Given the description of an element on the screen output the (x, y) to click on. 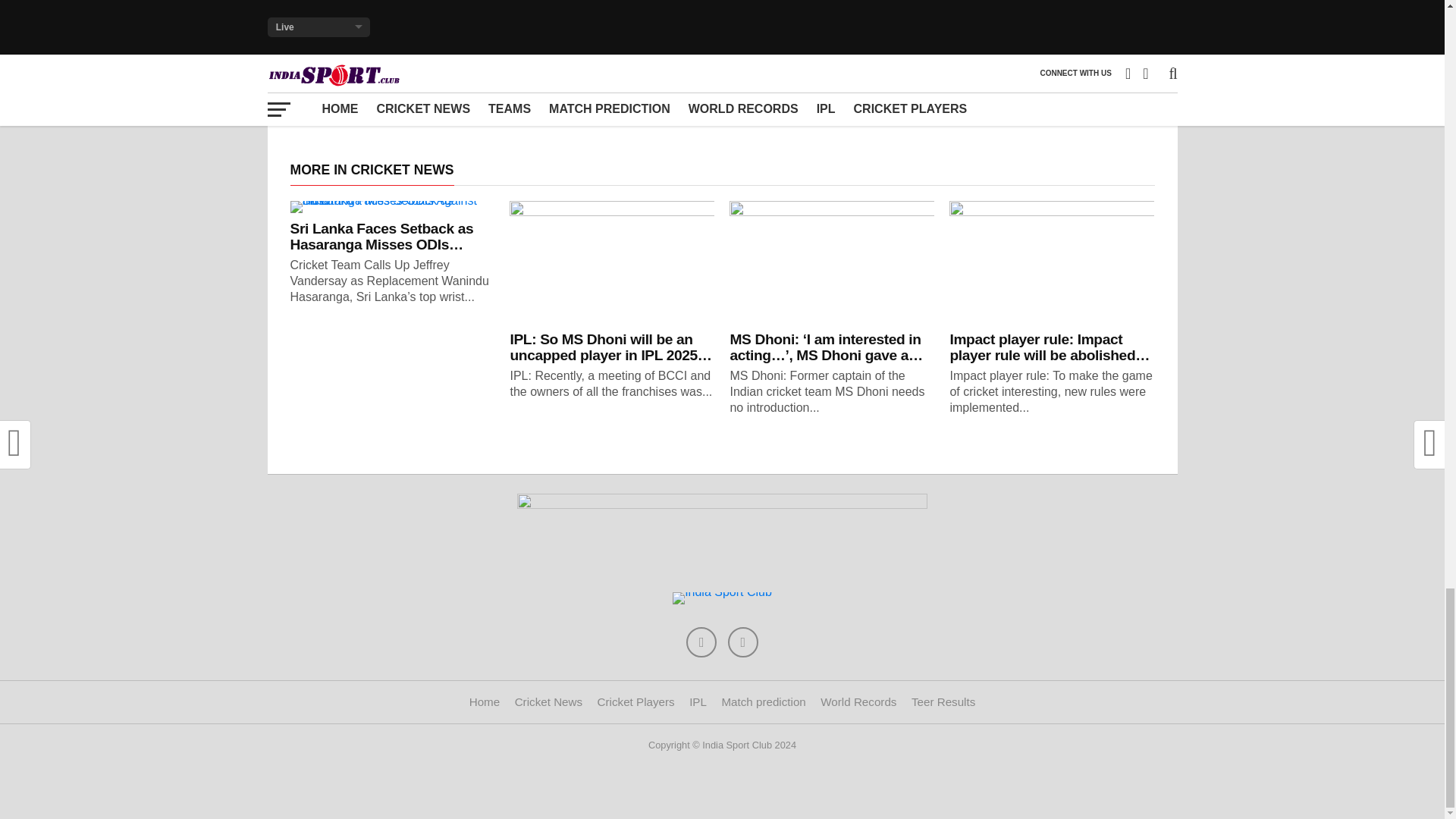
SRI LANKA (378, 56)
PAT CUMMINS (819, 36)
ICC TEST CHAMPIONSHIP (657, 36)
INDIA (753, 36)
ICC TEST (554, 36)
AUSTRALIA (482, 36)
VIRAT KOHLI (456, 56)
